Given the description of an element on the screen output the (x, y) to click on. 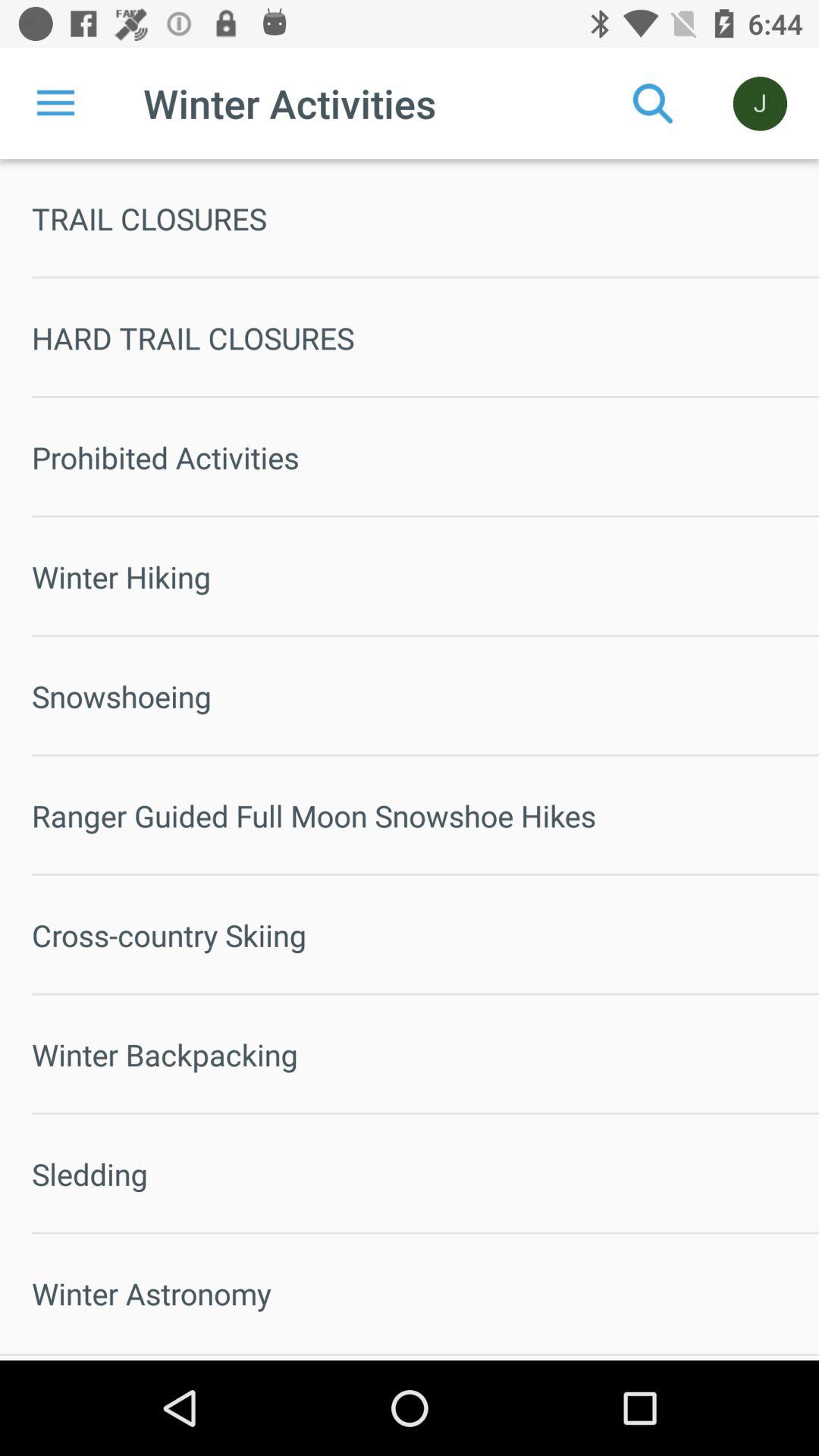
scroll until the winter astronomy (425, 1293)
